Given the description of an element on the screen output the (x, y) to click on. 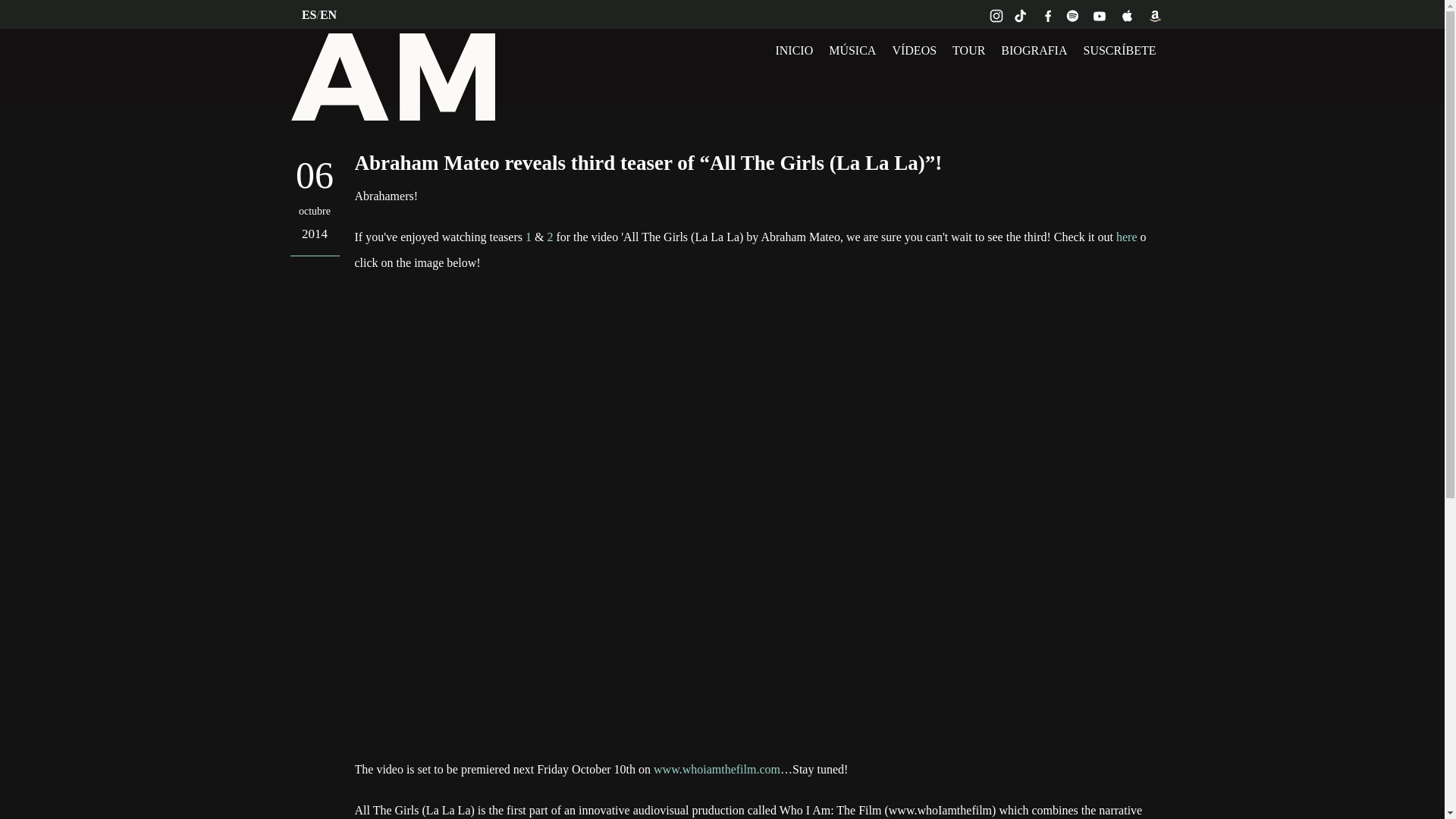
here (1126, 236)
TOUR (968, 49)
www.whoiamthefilm.com (716, 768)
EN (328, 14)
BIOGRAFIA (1033, 49)
ES (309, 14)
INICIO (794, 49)
